Given the description of an element on the screen output the (x, y) to click on. 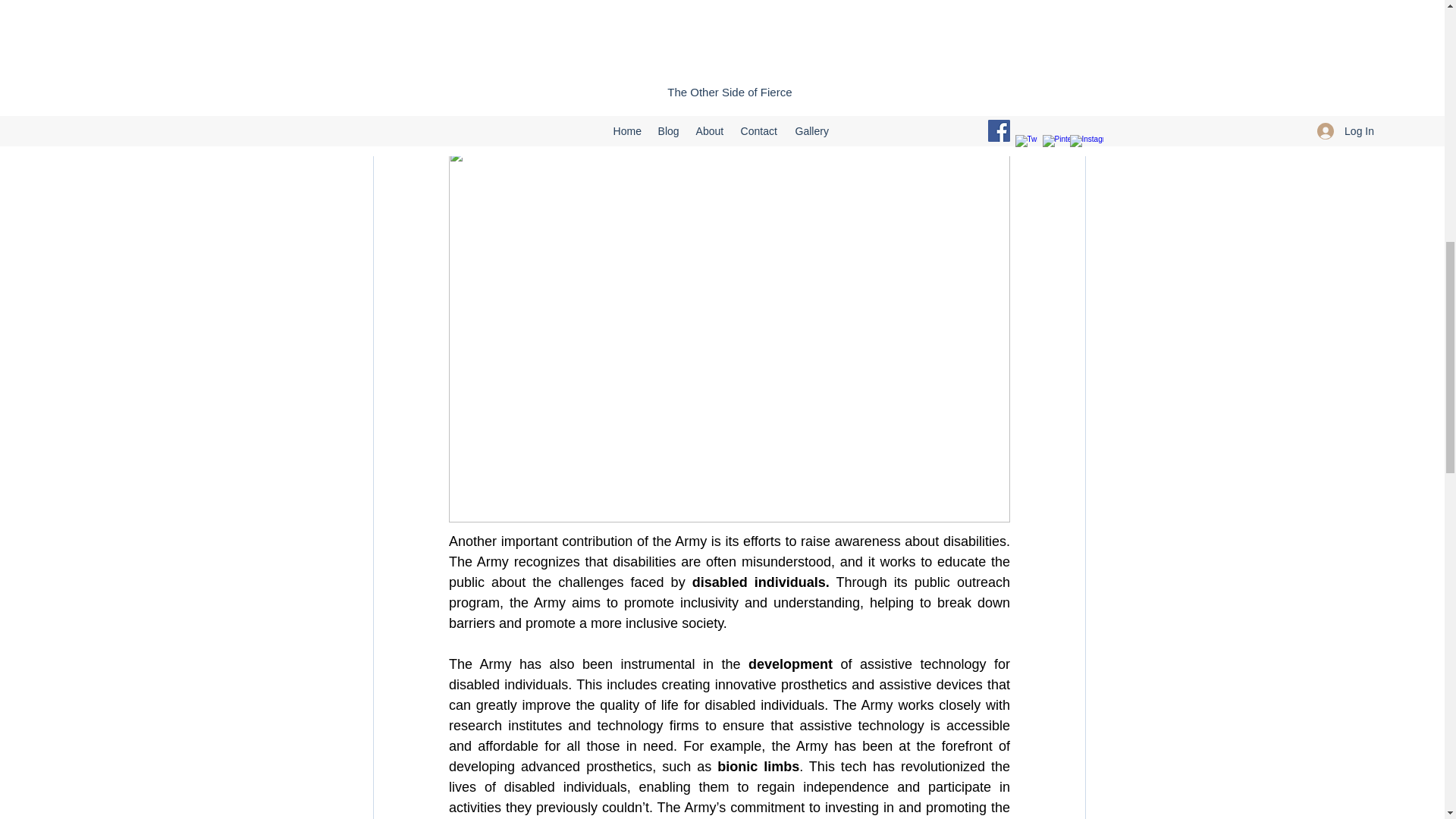
Arm (462, 6)
